Given the description of an element on the screen output the (x, y) to click on. 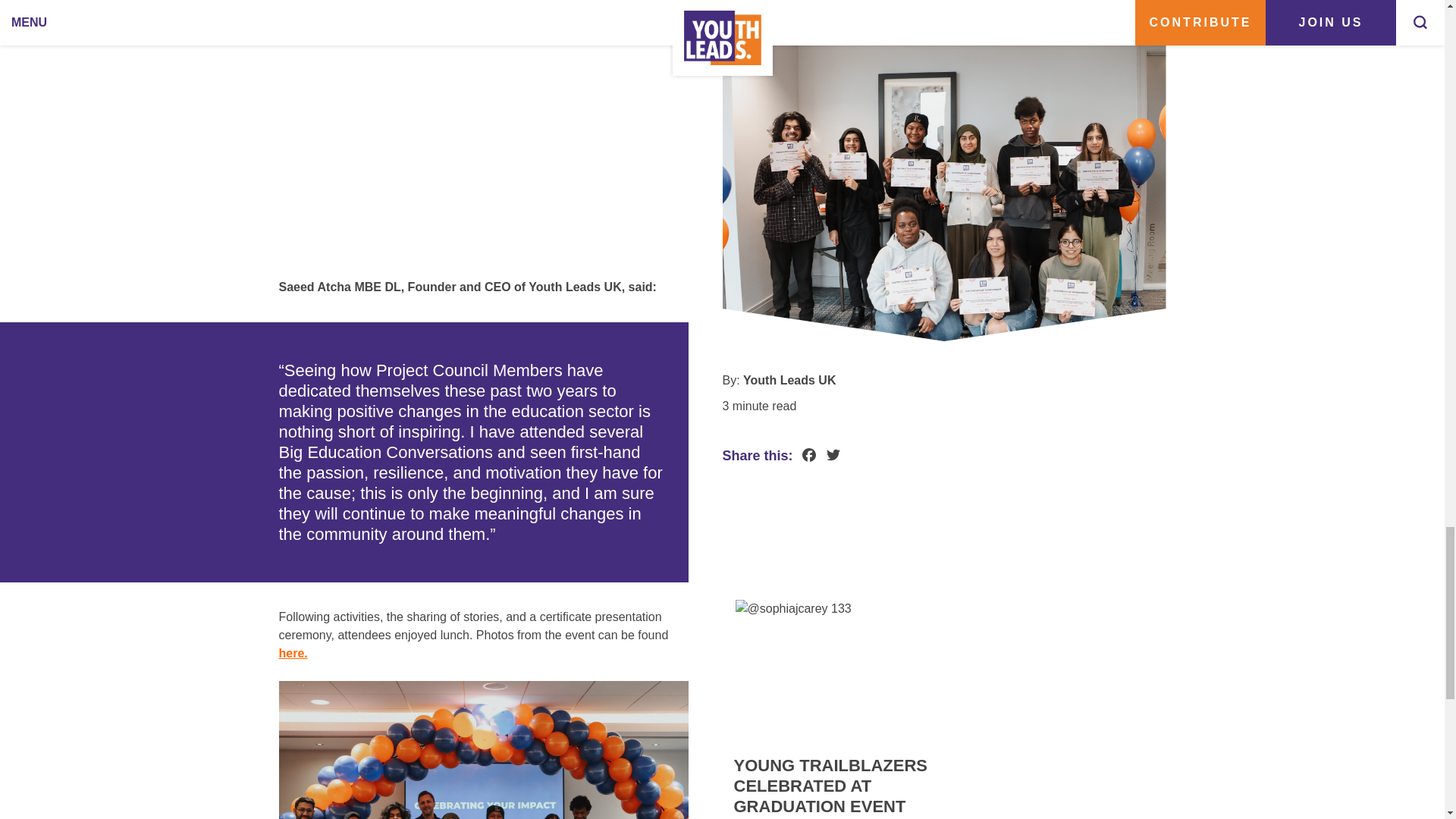
here. (293, 653)
